Given the description of an element on the screen output the (x, y) to click on. 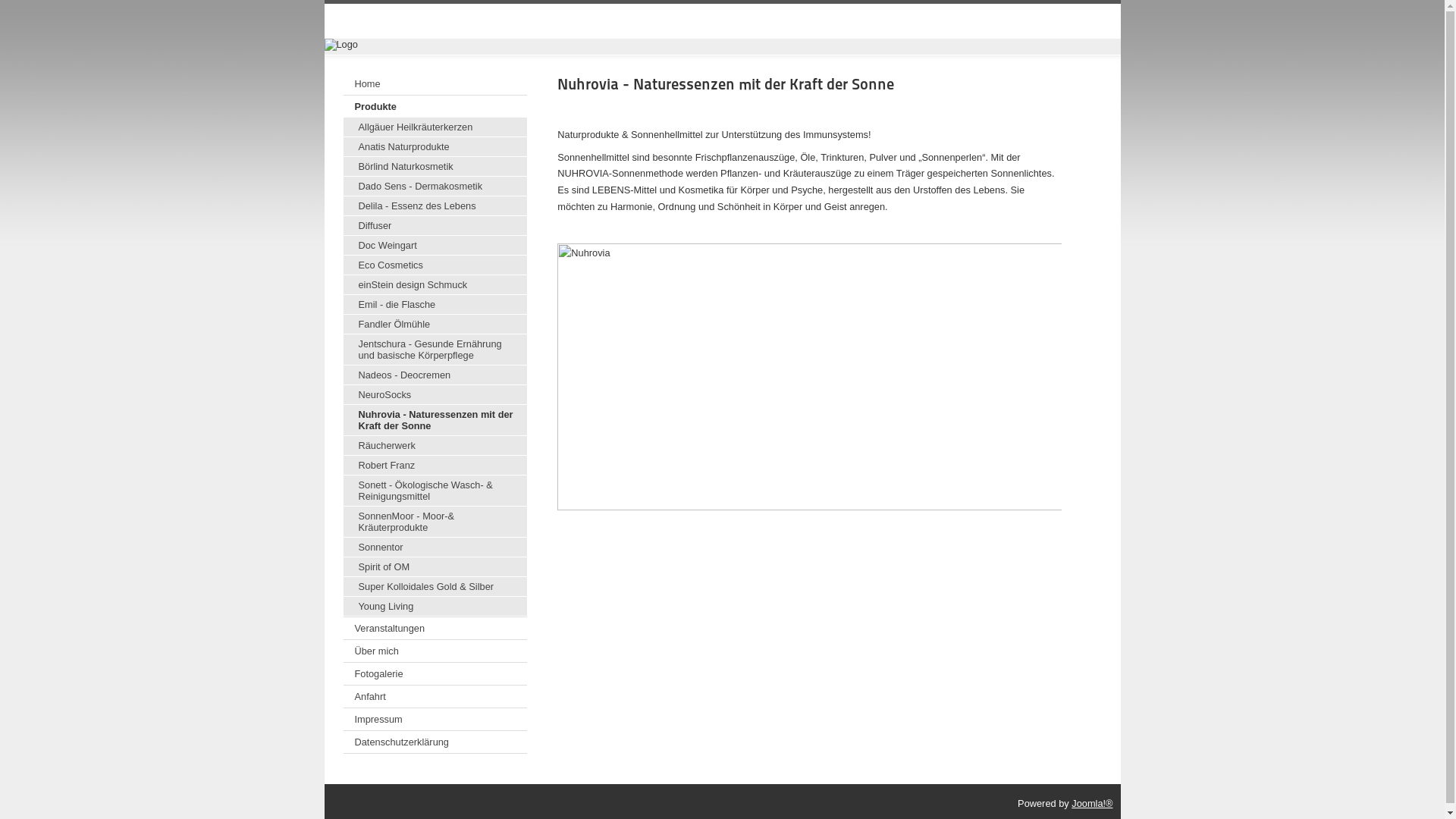
Veranstaltungen Element type: text (434, 628)
Fotogalerie Element type: text (434, 673)
einStein design Schmuck Element type: text (434, 284)
Anatis Naturprodukte Element type: text (434, 146)
Nuhrovia Element type: hover (822, 376)
Diffuser Element type: text (434, 225)
Super Kolloidales Gold & Silber Element type: text (434, 586)
Produkte Element type: text (434, 106)
Doc Weingart Element type: text (434, 245)
Anfahrt Element type: text (434, 696)
Young Living Element type: text (434, 606)
NeuroSocks Element type: text (434, 394)
Nadeos - Deocremen Element type: text (434, 375)
Robert Franz Element type: text (434, 465)
Dado Sens - Dermakosmetik Element type: text (434, 186)
Nuhrovia - Naturessenzen mit der Kraft der Sonne Element type: text (434, 420)
Spirit of OM Element type: text (434, 567)
Emil - die Flasche Element type: text (434, 304)
Delila - Essenz des Lebens Element type: text (434, 206)
Impressum Element type: text (434, 719)
Nuhrovia - Naturessenzen mit der Kraft der Sonne Element type: text (725, 84)
Home Element type: text (434, 83)
Sonnentor Element type: text (434, 547)
Eco Cosmetics Element type: text (434, 265)
